Given the description of an element on the screen output the (x, y) to click on. 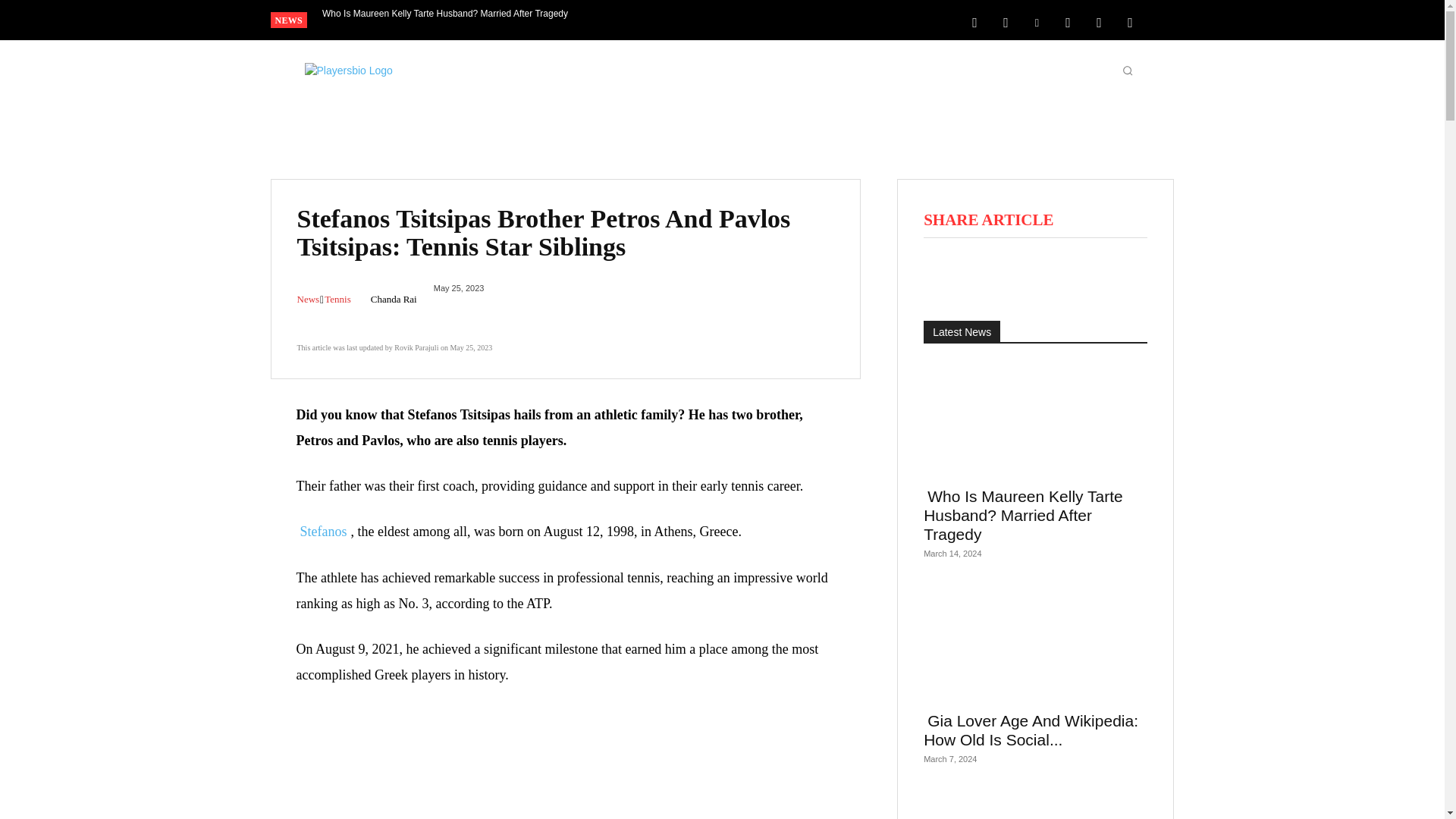
Who Is Maureen Kelly Tarte Husband? Married After Tragedy (445, 13)
Instagram (1005, 21)
Who Is Maureen Kelly Tarte Husband? Married After Tragedy (445, 13)
Facebook (974, 21)
